Given the description of an element on the screen output the (x, y) to click on. 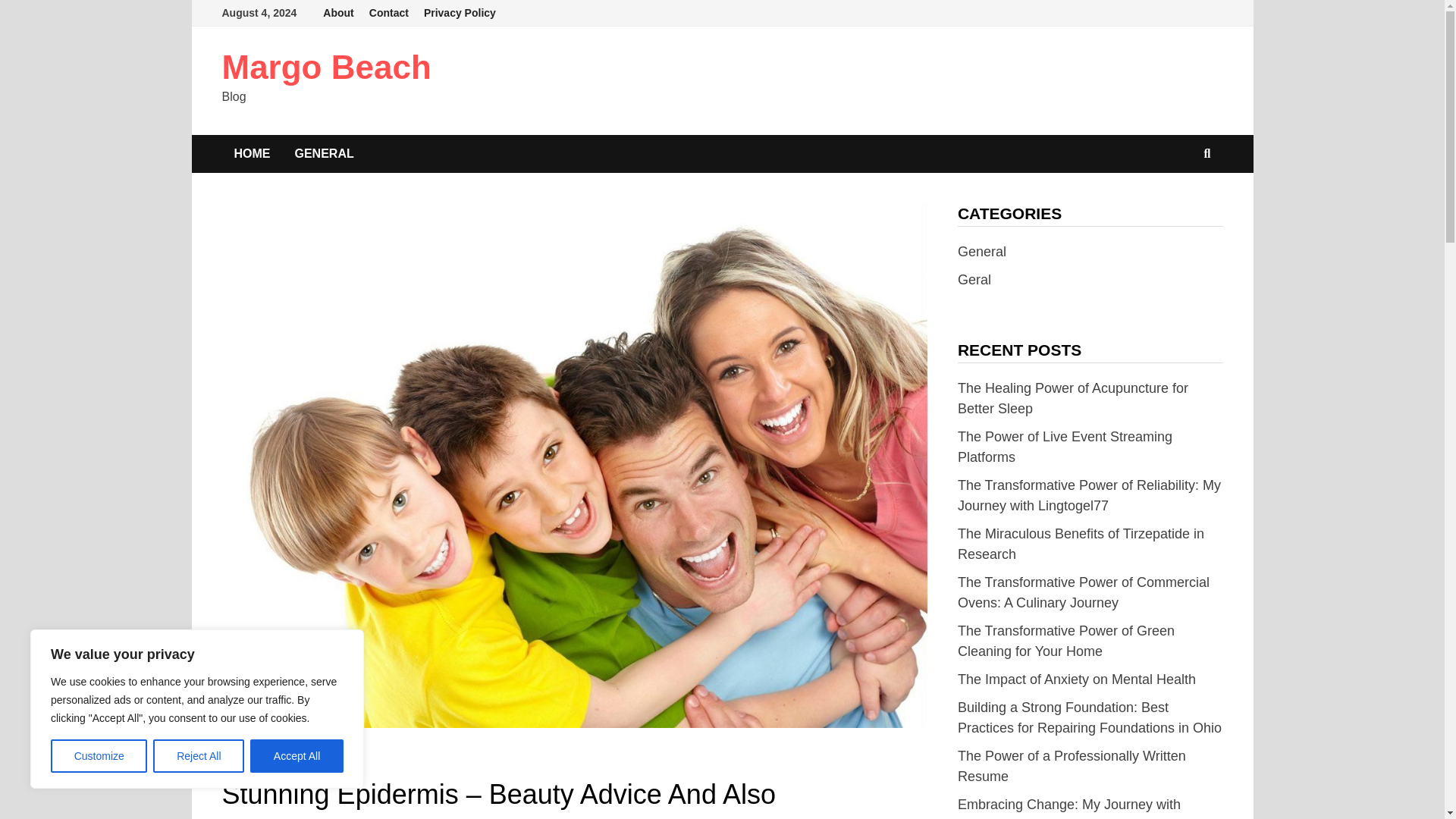
About (338, 13)
Privacy Policy (459, 13)
Margo Beach (325, 66)
GENERAL (323, 153)
HOME (251, 153)
GENERAL (247, 761)
Contact (388, 13)
Reject All (198, 756)
Customize (98, 756)
Accept All (296, 756)
